Given the description of an element on the screen output the (x, y) to click on. 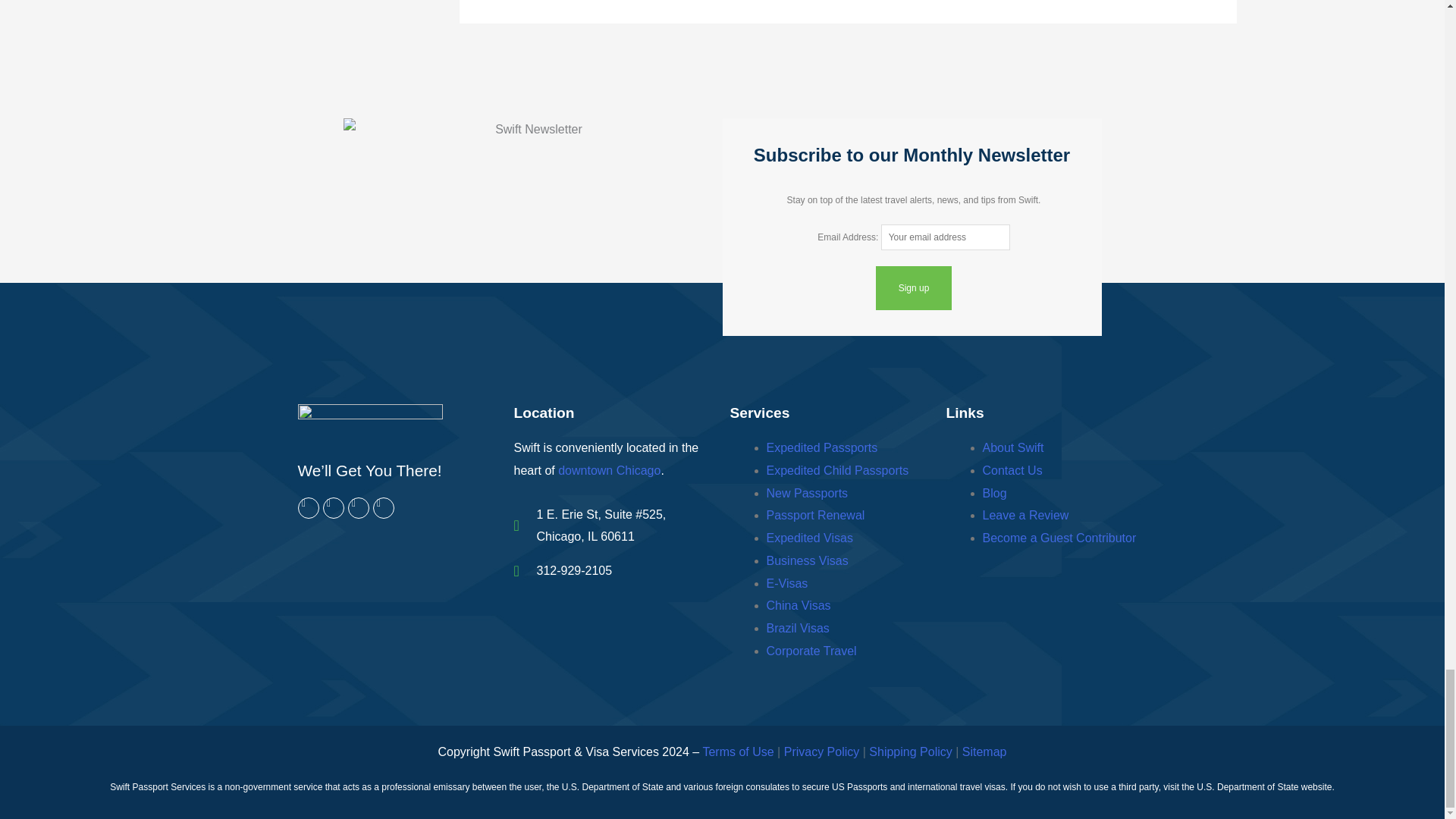
Sign up (914, 288)
